Given the description of an element on the screen output the (x, y) to click on. 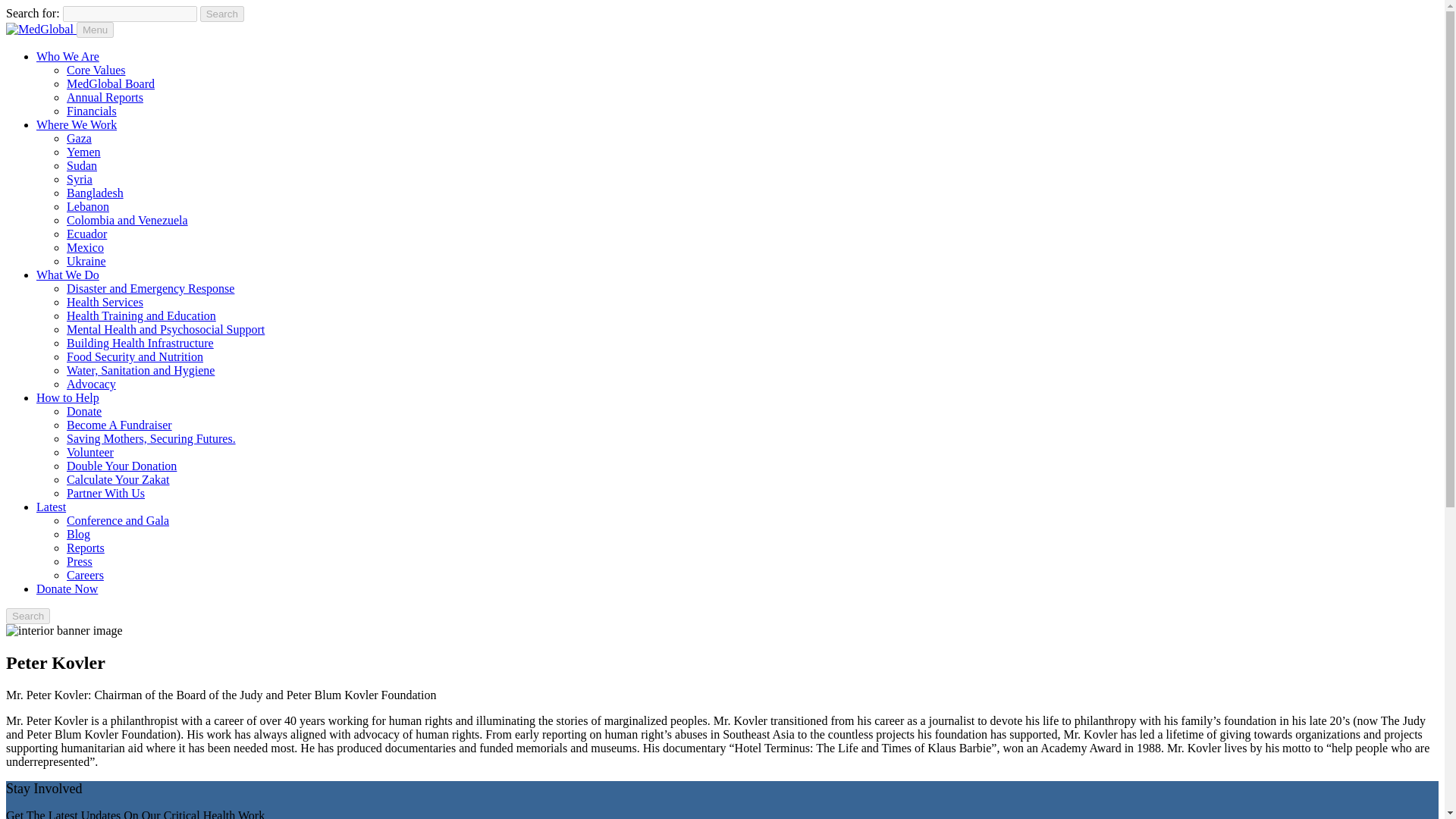
Gaza (78, 137)
Mexico (84, 246)
Blog (78, 533)
Annual Reports (104, 97)
Health Services (104, 301)
Reports (85, 547)
How to Help (67, 397)
Core Values (95, 69)
Yemen (83, 151)
Mexico (84, 246)
